Given the description of an element on the screen output the (x, y) to click on. 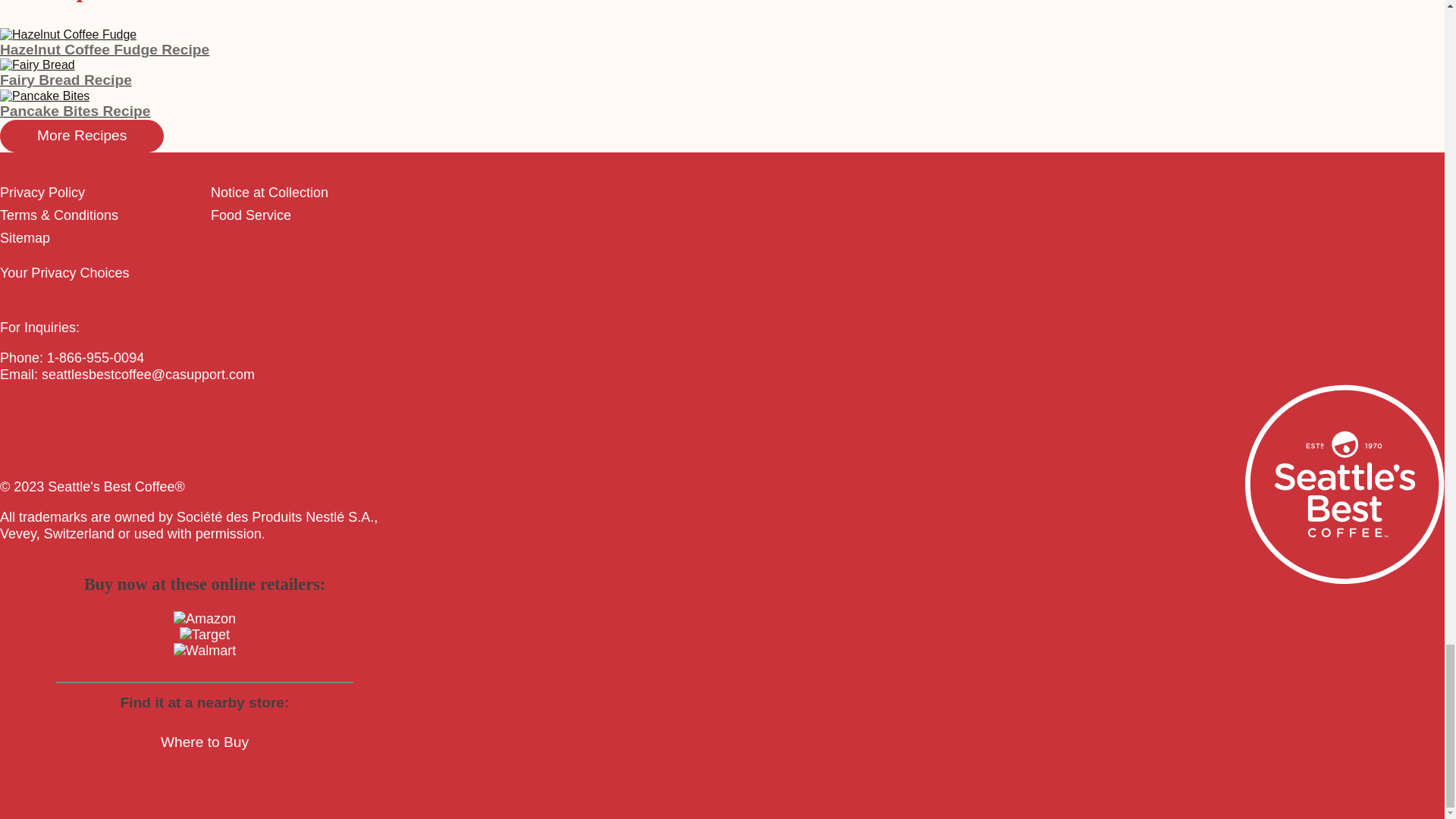
Where to Buy (204, 741)
Privacy Policy (42, 192)
Your Privacy Choices (64, 272)
Food Service (251, 215)
Sitemap (24, 237)
Notice at Collection (270, 192)
More Recipes (81, 135)
